Given the description of an element on the screen output the (x, y) to click on. 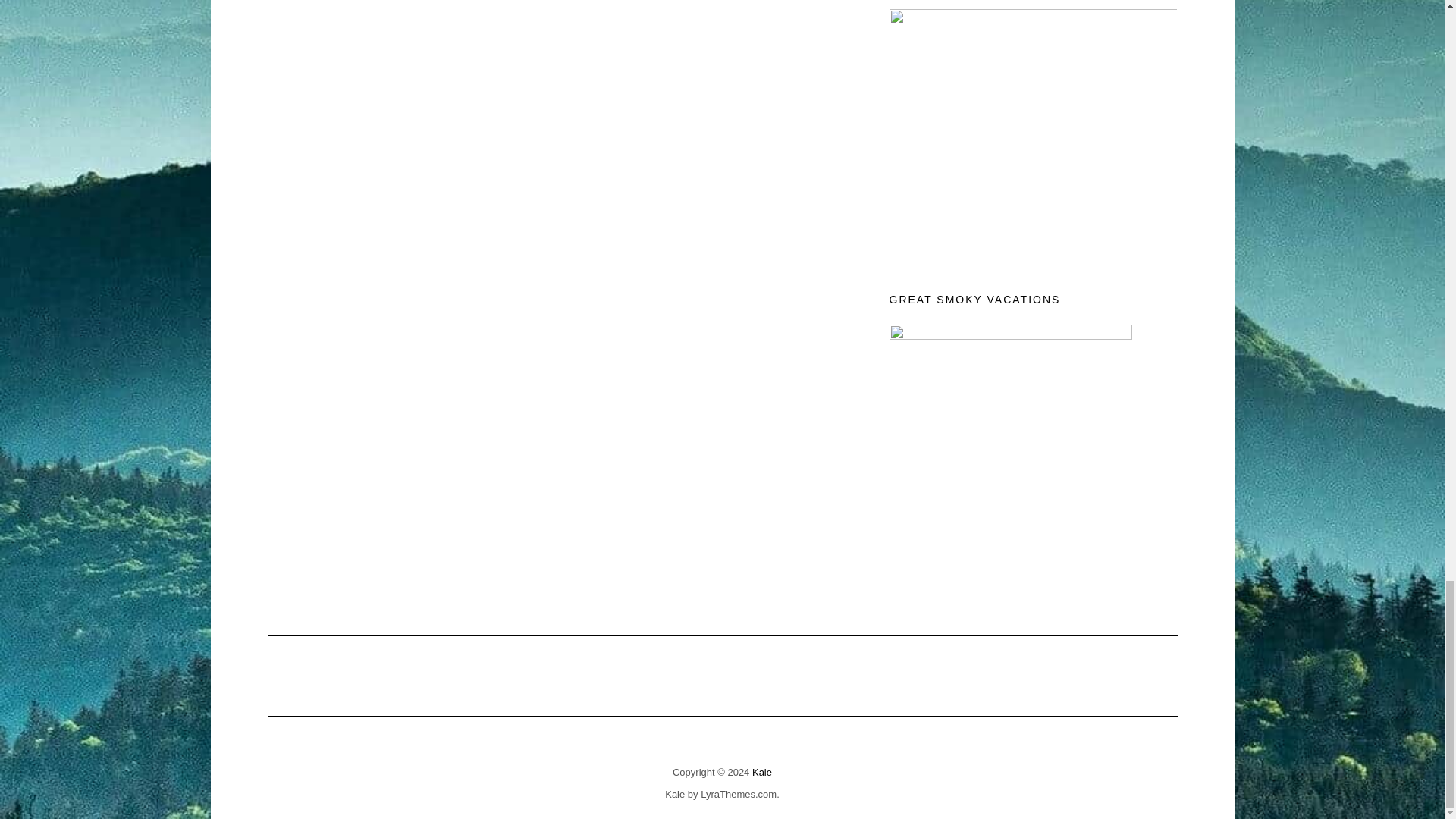
Foothills Farm, TN. (1009, 445)
Foothills Farm, TN. (1032, 130)
